Given the description of an element on the screen output the (x, y) to click on. 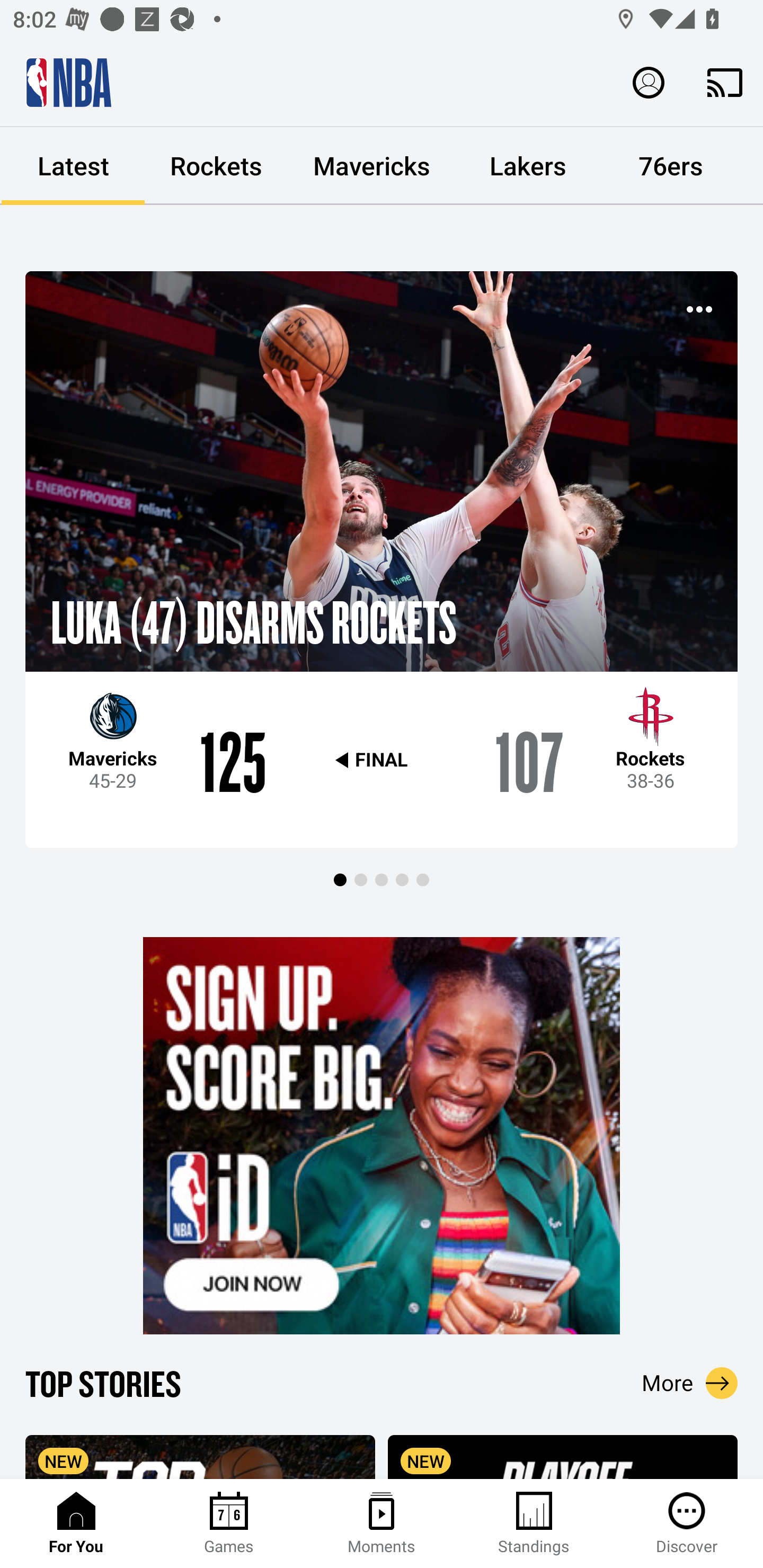
Cast. Disconnected (724, 82)
Profile (648, 81)
Rockets (215, 166)
Mavericks (371, 166)
Lakers (527, 166)
76ers (670, 166)
More (689, 1382)
Games (228, 1523)
Moments (381, 1523)
Standings (533, 1523)
Discover (686, 1523)
